Given the description of an element on the screen output the (x, y) to click on. 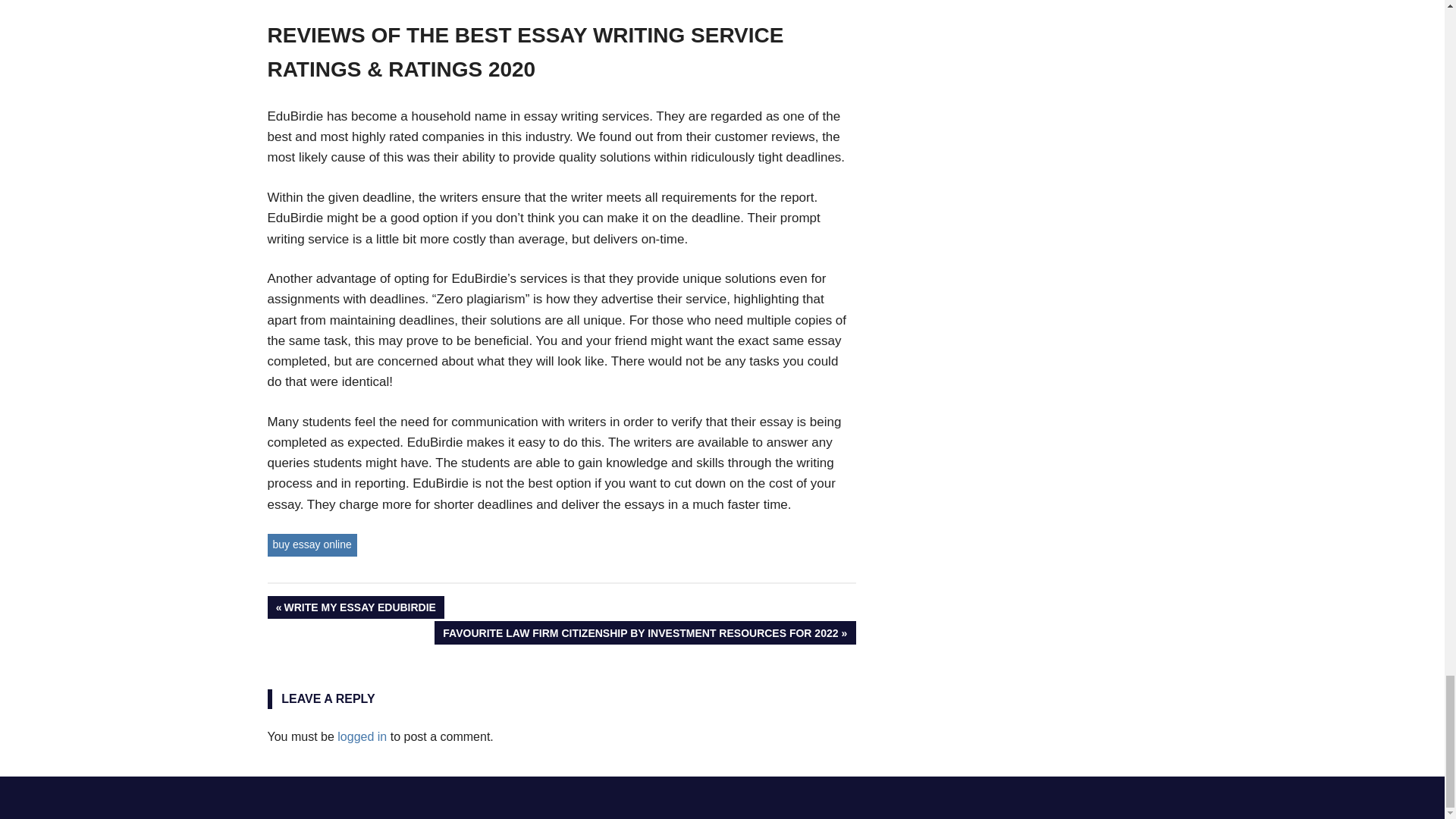
buy essay online (355, 607)
logged in (311, 544)
